Given the description of an element on the screen output the (x, y) to click on. 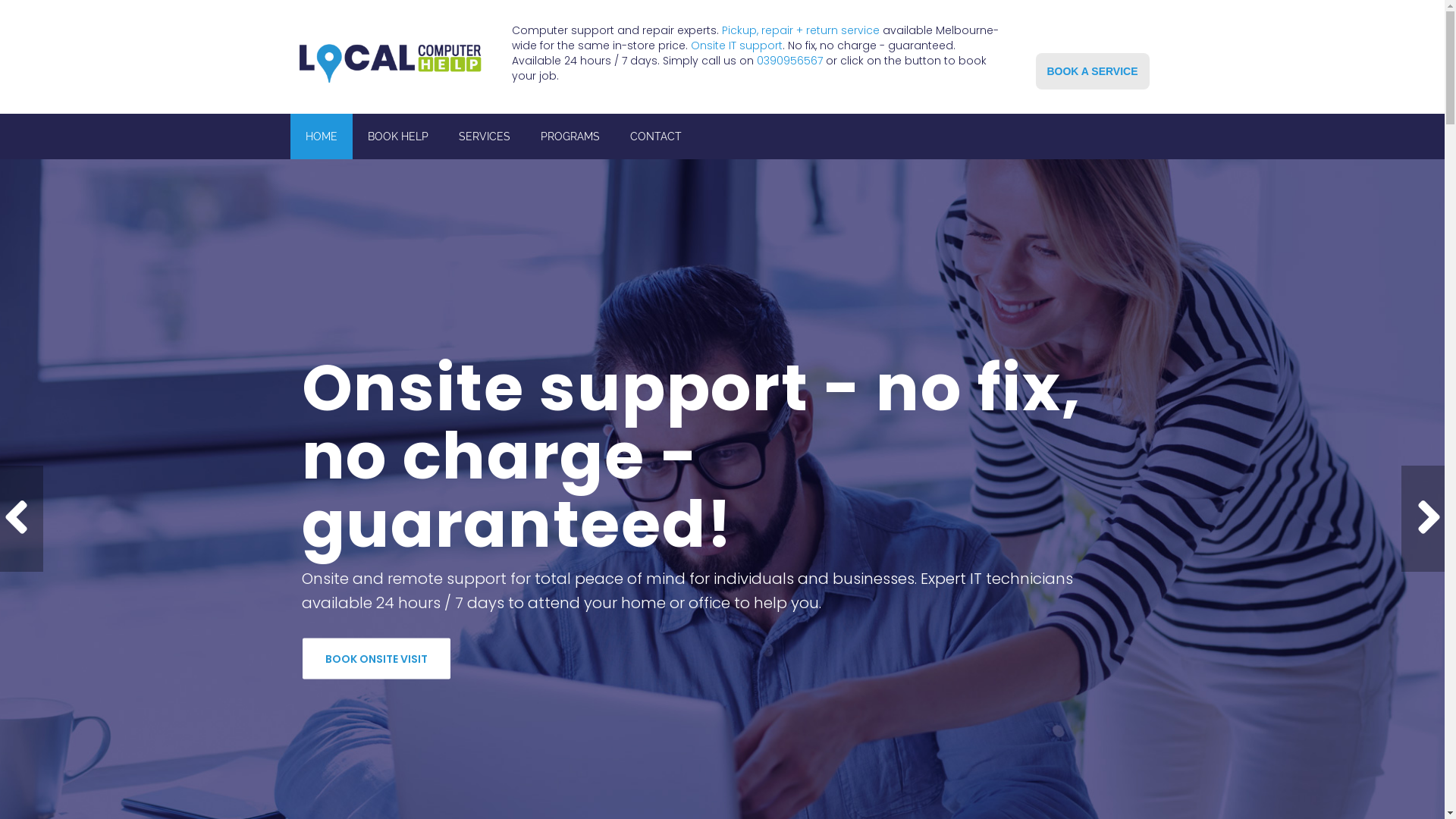
CONTACT Element type: text (655, 136)
PROGRAMS Element type: text (569, 136)
BOOK ONSITE VISIT Element type: text (376, 658)
Onsite IT support Element type: text (736, 45)
BOOK HELP Element type: text (396, 136)
SERVICES Element type: text (483, 136)
BOOK A SERVICE Element type: text (1092, 71)
HOME Element type: text (320, 136)
0390956567 Element type: text (789, 60)
Local Computer Help Element type: hover (389, 58)
Pickup, repair + return service Element type: text (800, 29)
